Given the description of an element on the screen output the (x, y) to click on. 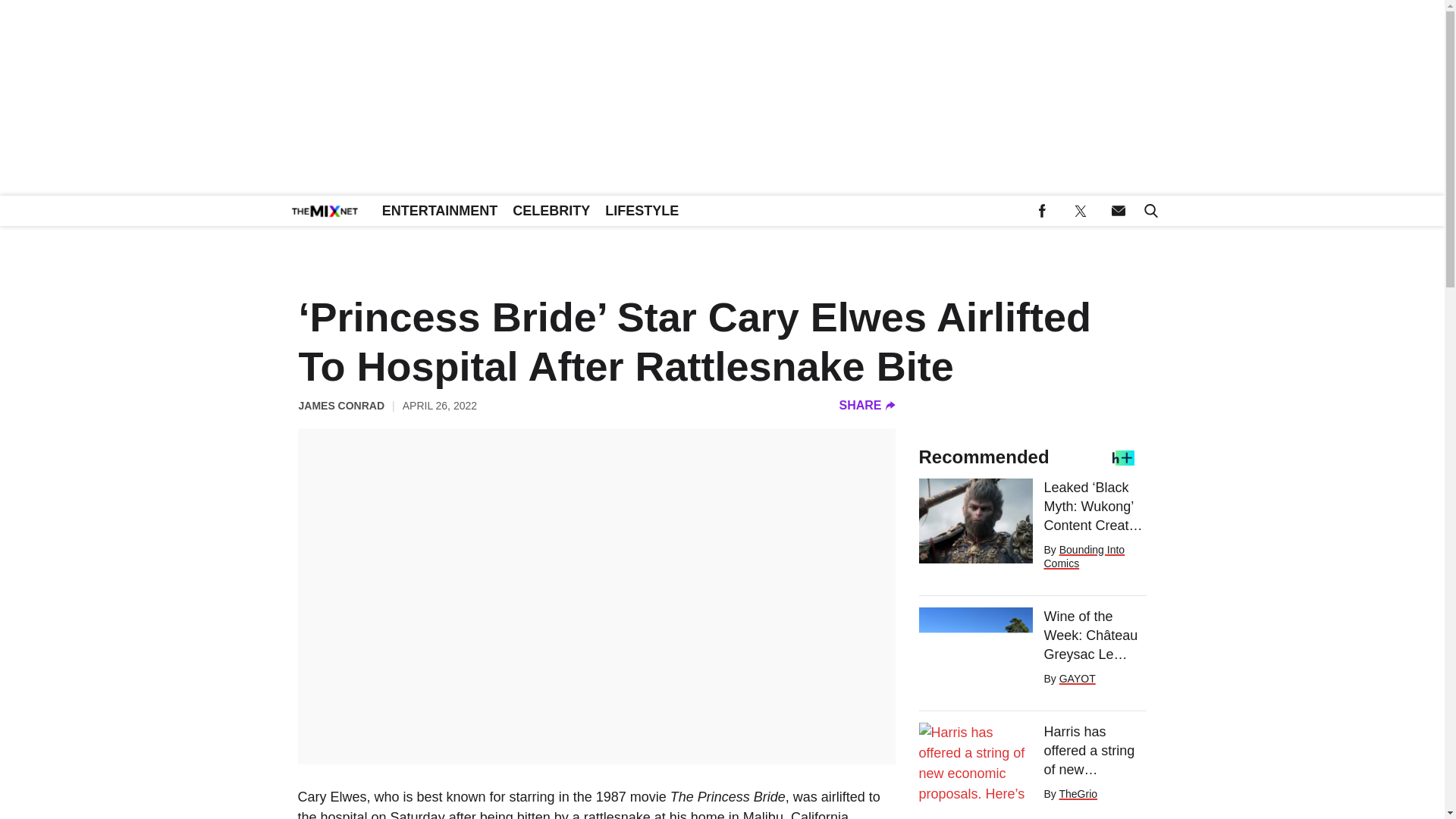
CELEBRITY (550, 210)
Follow us on Facebook (1042, 210)
JAMES CONRAD (341, 405)
LIFESTYLE (640, 210)
Follow us on Twitter (1080, 210)
Send us an email (1118, 210)
Bounding Into Comics (1083, 556)
Posts by James Conrad (341, 405)
ENTERTAINMENT (439, 210)
